Given the description of an element on the screen output the (x, y) to click on. 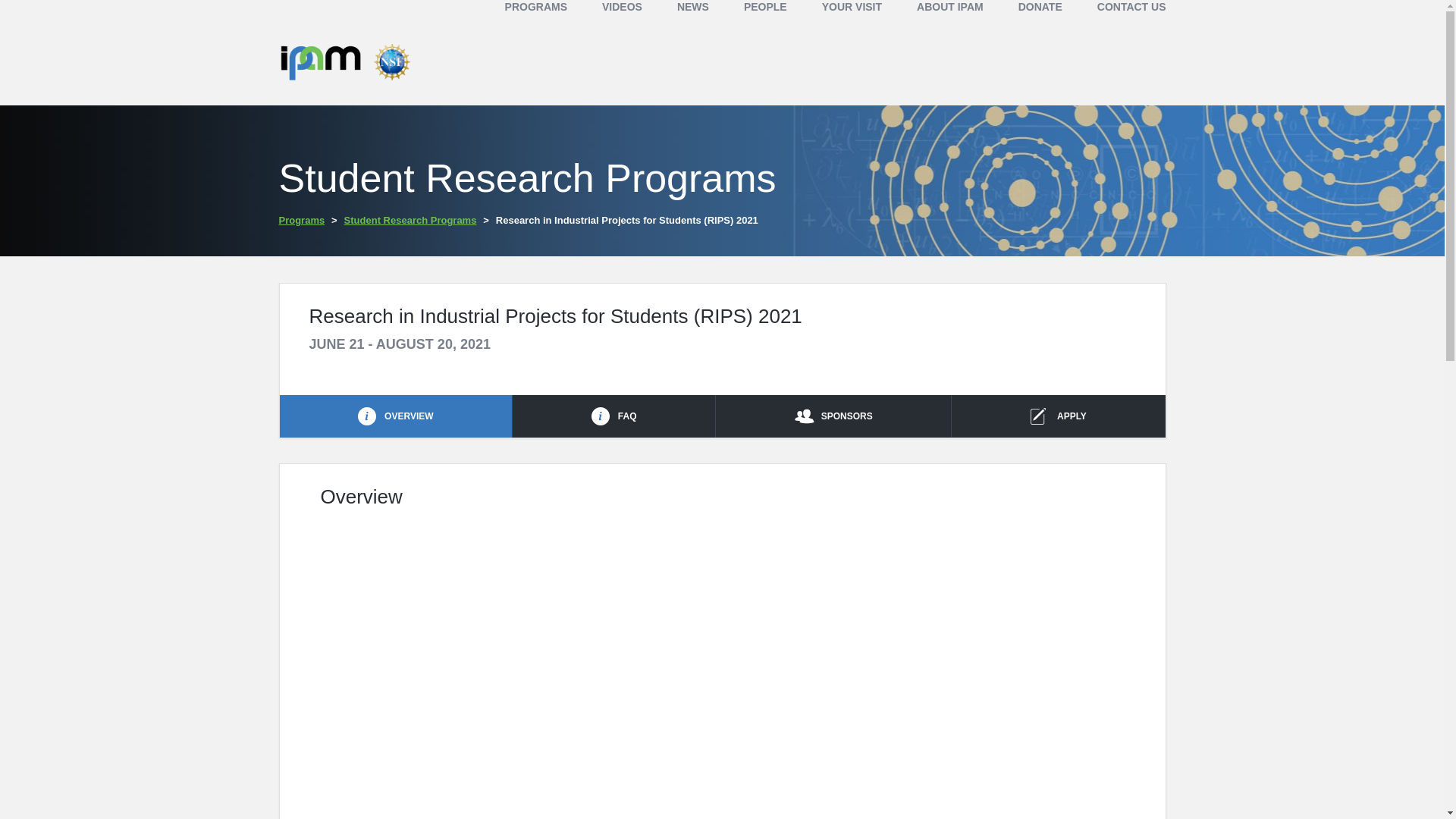
PROGRAMS (536, 6)
